Given the description of an element on the screen output the (x, y) to click on. 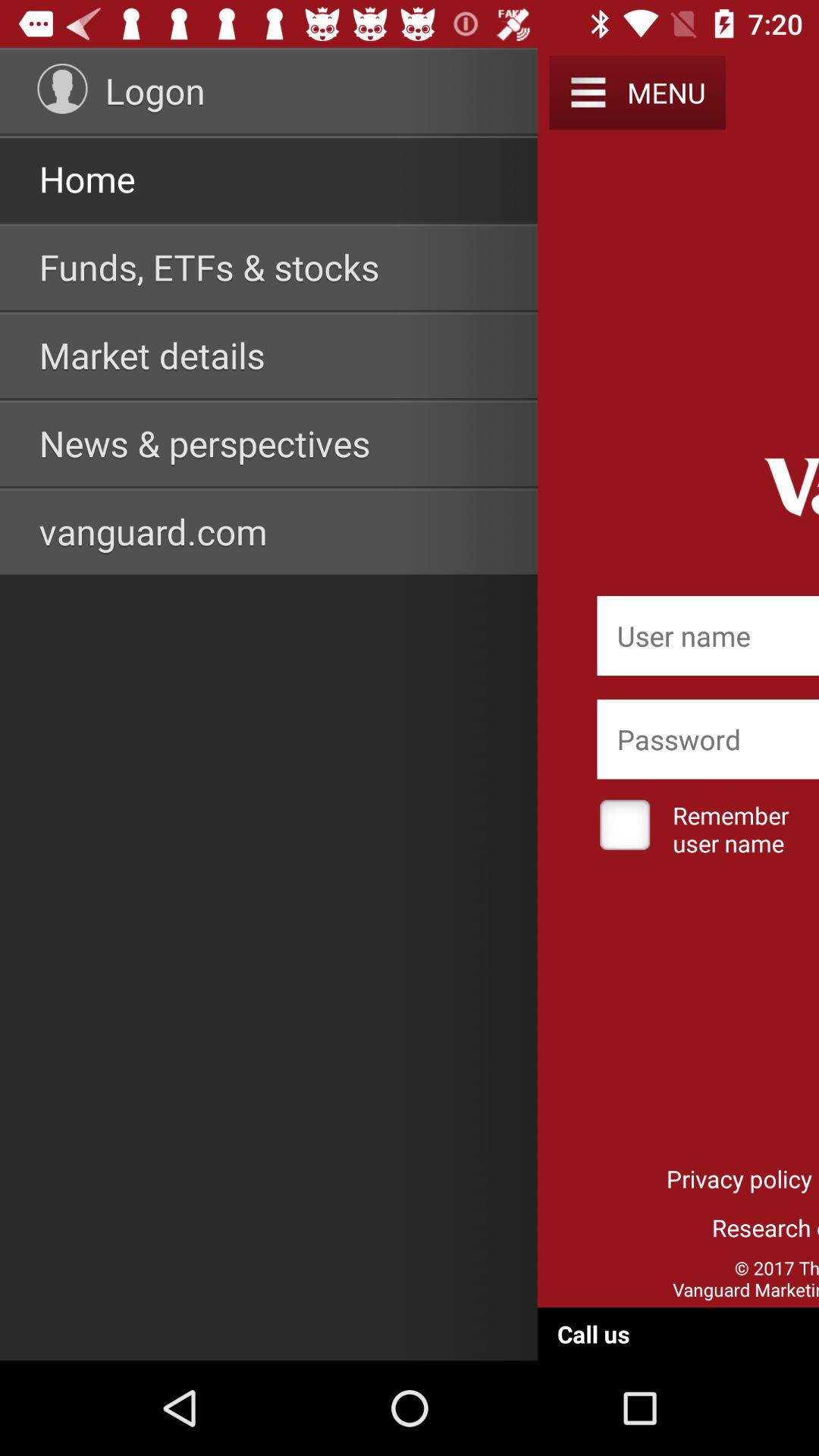
launch item to the left of logon (62, 88)
